Given the description of an element on the screen output the (x, y) to click on. 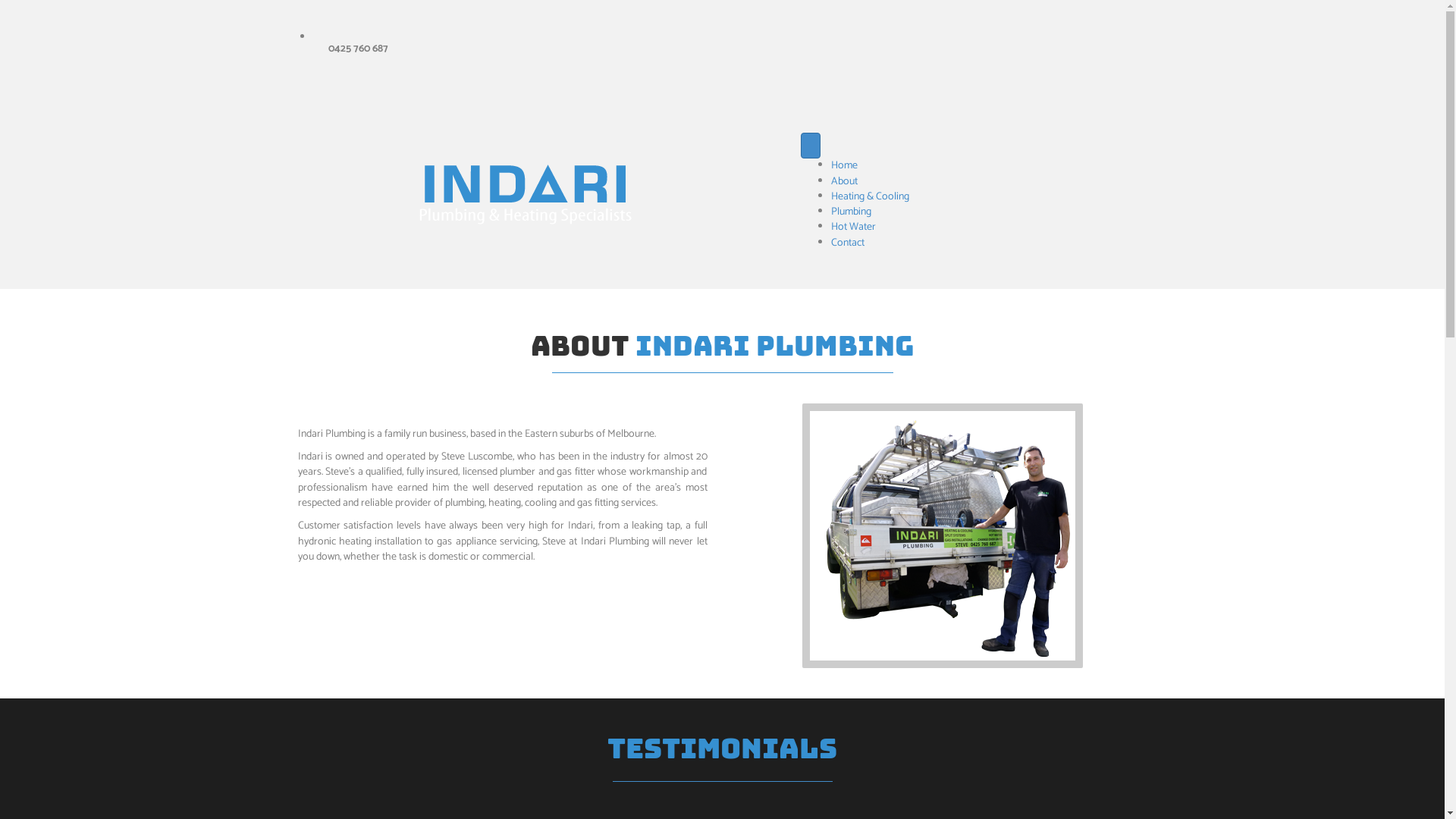
Plumbing Element type: text (851, 211)
Contact Element type: text (847, 242)
indari-logo-01 Element type: hover (525, 195)
Hot Water Element type: text (853, 226)
Home Element type: text (844, 165)
Heating & Cooling Element type: text (870, 196)
About Element type: text (844, 181)
